Given the description of an element on the screen output the (x, y) to click on. 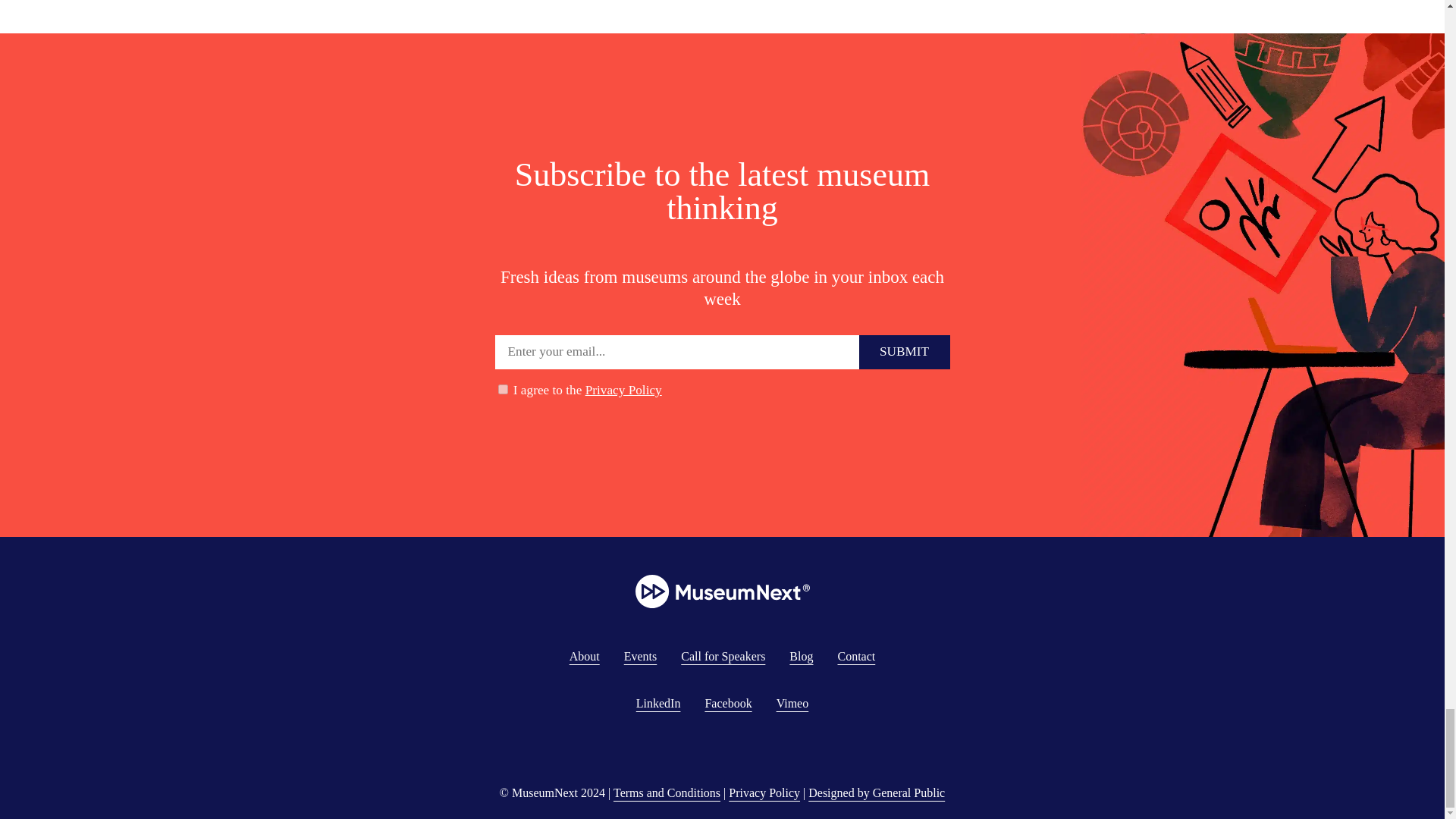
Submit (904, 351)
Events (641, 656)
Call for Speakers (723, 656)
Terms and Conditions (666, 792)
Contact (856, 656)
Facebook (727, 703)
Vimeo (792, 703)
Privacy Policy (623, 390)
Privacy Policy (764, 792)
Blog (800, 656)
LinkedIn (658, 703)
Submit (904, 351)
About (584, 656)
1 (501, 388)
Designed by General Public (876, 792)
